Given the description of an element on the screen output the (x, y) to click on. 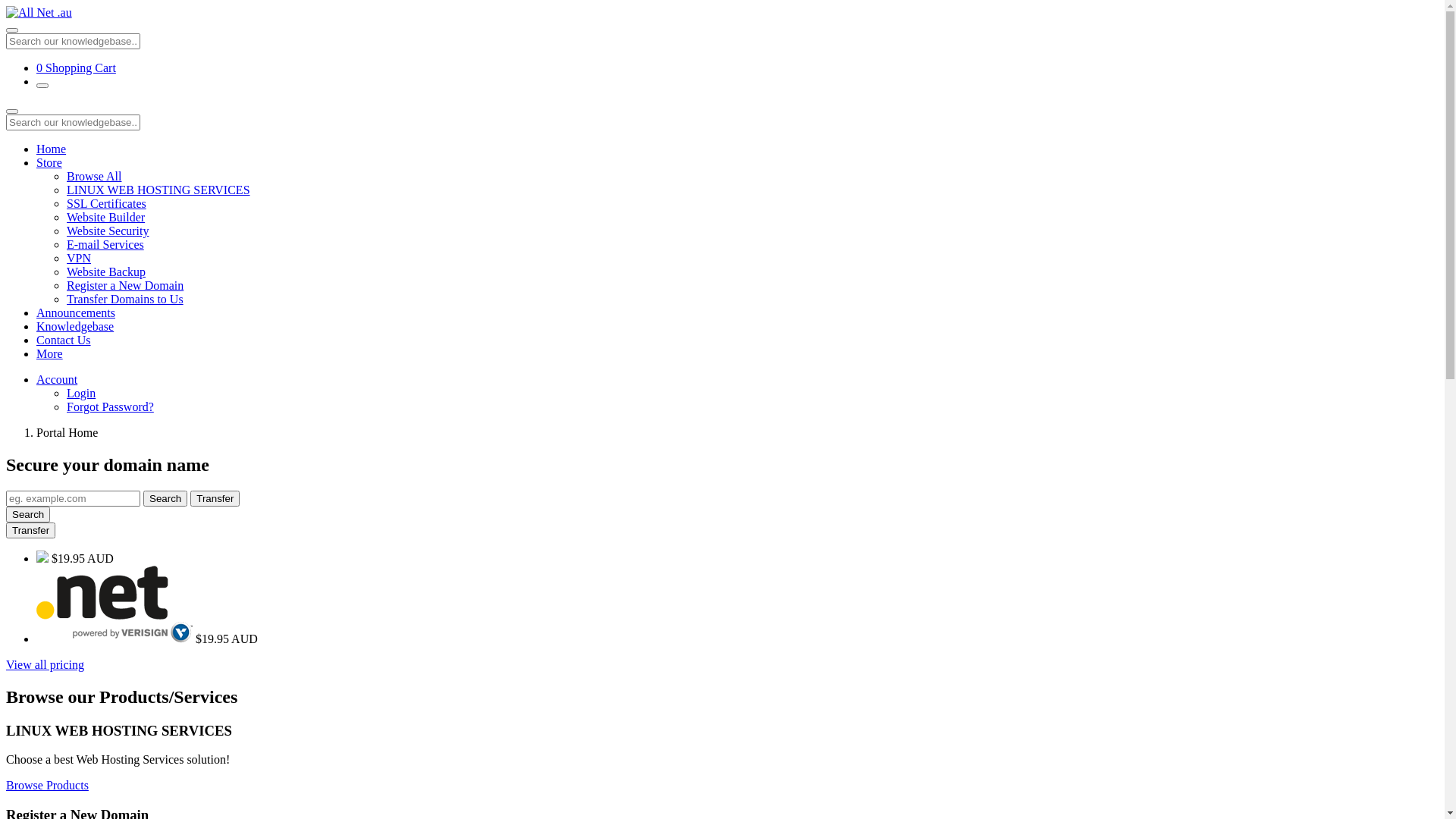
Account Element type: text (56, 379)
Contact Us Element type: text (63, 339)
Transfer Domains to Us Element type: text (124, 298)
Website Builder Element type: text (105, 216)
Transfer Element type: text (30, 530)
Forgot Password? Element type: text (109, 406)
More Element type: text (49, 353)
VPN Element type: text (78, 257)
Store Element type: text (49, 162)
View all pricing Element type: text (45, 664)
LINUX WEB HOSTING SERVICES Element type: text (158, 189)
SSL Certificates Element type: text (106, 203)
Knowledgebase Element type: text (74, 326)
Browse All Element type: text (93, 175)
Register a New Domain Element type: text (124, 285)
Search Element type: text (28, 514)
Website Backup Element type: text (105, 271)
Website Security Element type: text (107, 230)
Browse Products Element type: text (47, 784)
Home Element type: text (50, 148)
E-mail Services Element type: text (105, 244)
Login Element type: text (80, 392)
Transfer Element type: text (214, 498)
0 Shopping Cart Element type: text (76, 67)
Search Element type: text (165, 498)
Announcements Element type: text (75, 312)
